Given the description of an element on the screen output the (x, y) to click on. 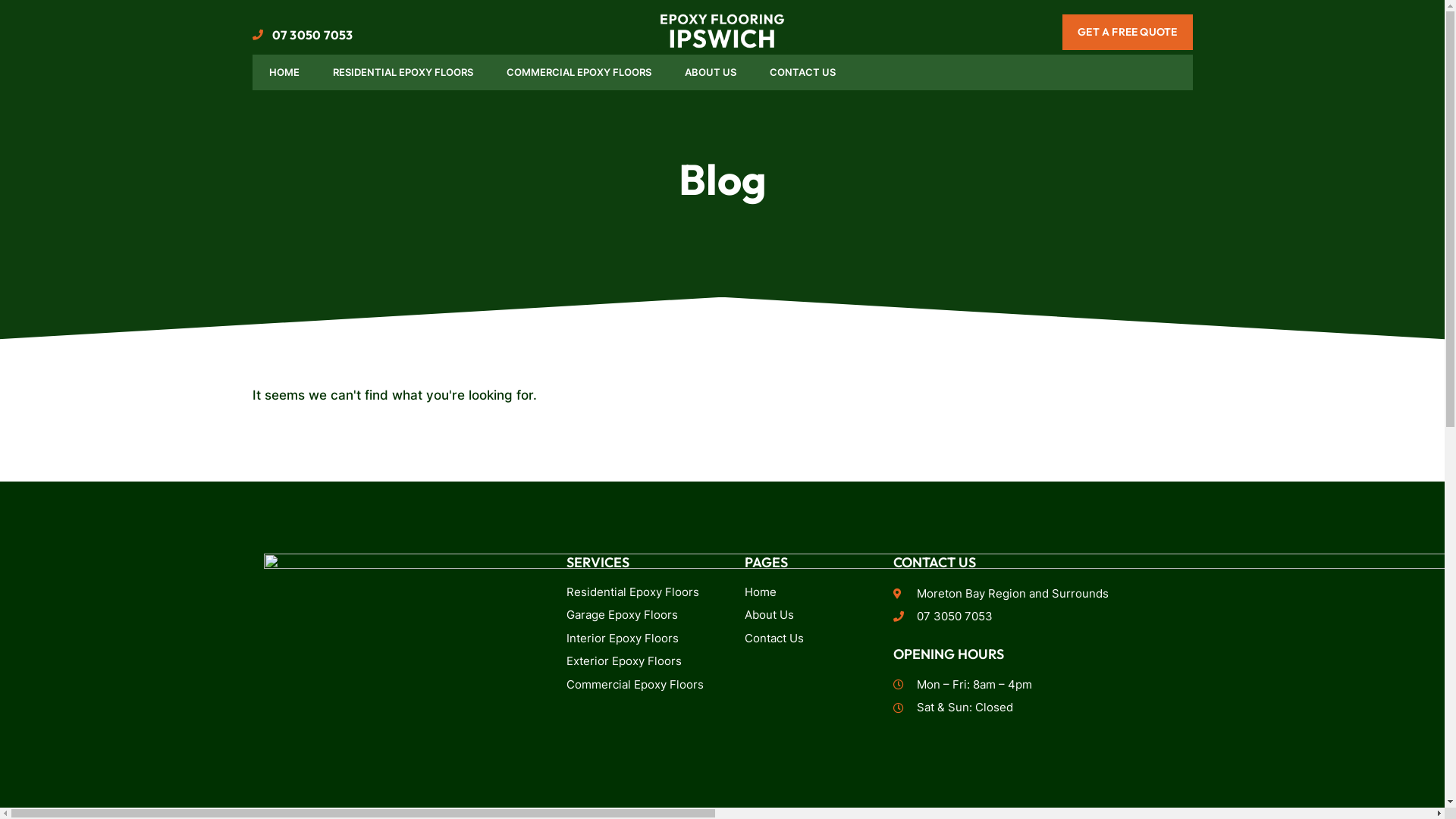
Contact Us Element type: text (807, 638)
About Us Element type: text (807, 615)
Residential Epoxy Floors Element type: text (638, 592)
CONTACT US Element type: text (801, 72)
COMMERCIAL EPOXY FLOORS Element type: text (578, 72)
HOME Element type: text (283, 72)
GET A FREE QUOTE Element type: text (1127, 31)
ABOUT US Element type: text (709, 72)
Commercial Epoxy Floors Element type: text (638, 684)
07 3050 7053 Element type: text (301, 34)
Home Element type: text (807, 592)
Garage Epoxy Floors Element type: text (638, 615)
Interior Epoxy Floors Element type: text (638, 638)
RESIDENTIAL EPOXY FLOORS Element type: text (402, 72)
07 3050 7053 Element type: text (1036, 616)
Exterior Epoxy Floors Element type: text (638, 661)
